Given the description of an element on the screen output the (x, y) to click on. 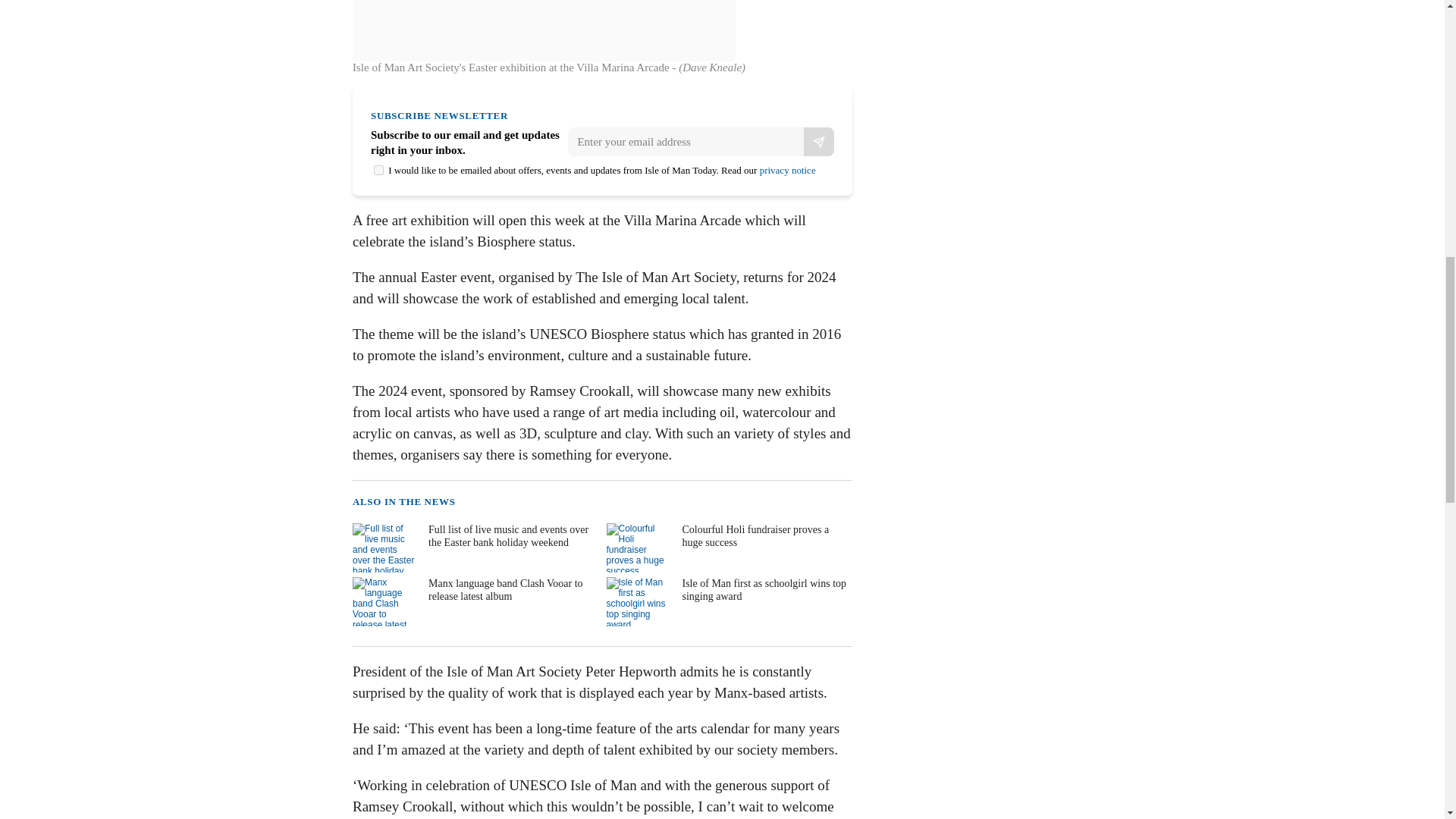
privacy notice (787, 170)
Colourful Holi fundraiser proves a huge success (727, 547)
on (379, 170)
Isle of Man first as schoolgirl wins top singing award (727, 601)
Manx language band Clash Vooar to release latest album (473, 601)
